Given the description of an element on the screen output the (x, y) to click on. 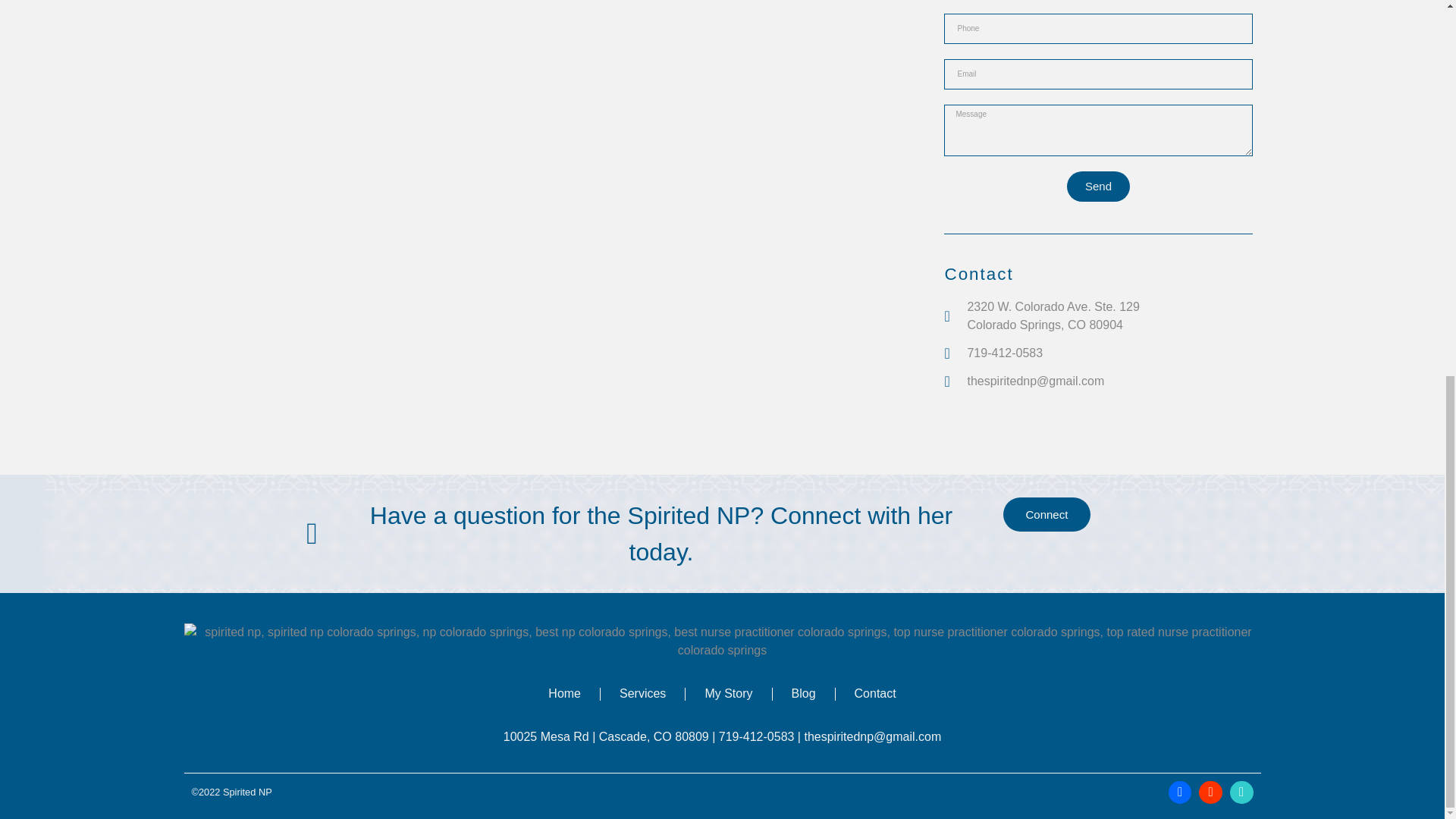
Have a question for the Spirited NP? Connect with her today. (639, 533)
My Story (728, 693)
Send (1098, 186)
Services (642, 693)
Contact (875, 693)
719-412-0583 (1097, 352)
Logo-White-343 (721, 641)
Connect (1046, 514)
